Given the description of an element on the screen output the (x, y) to click on. 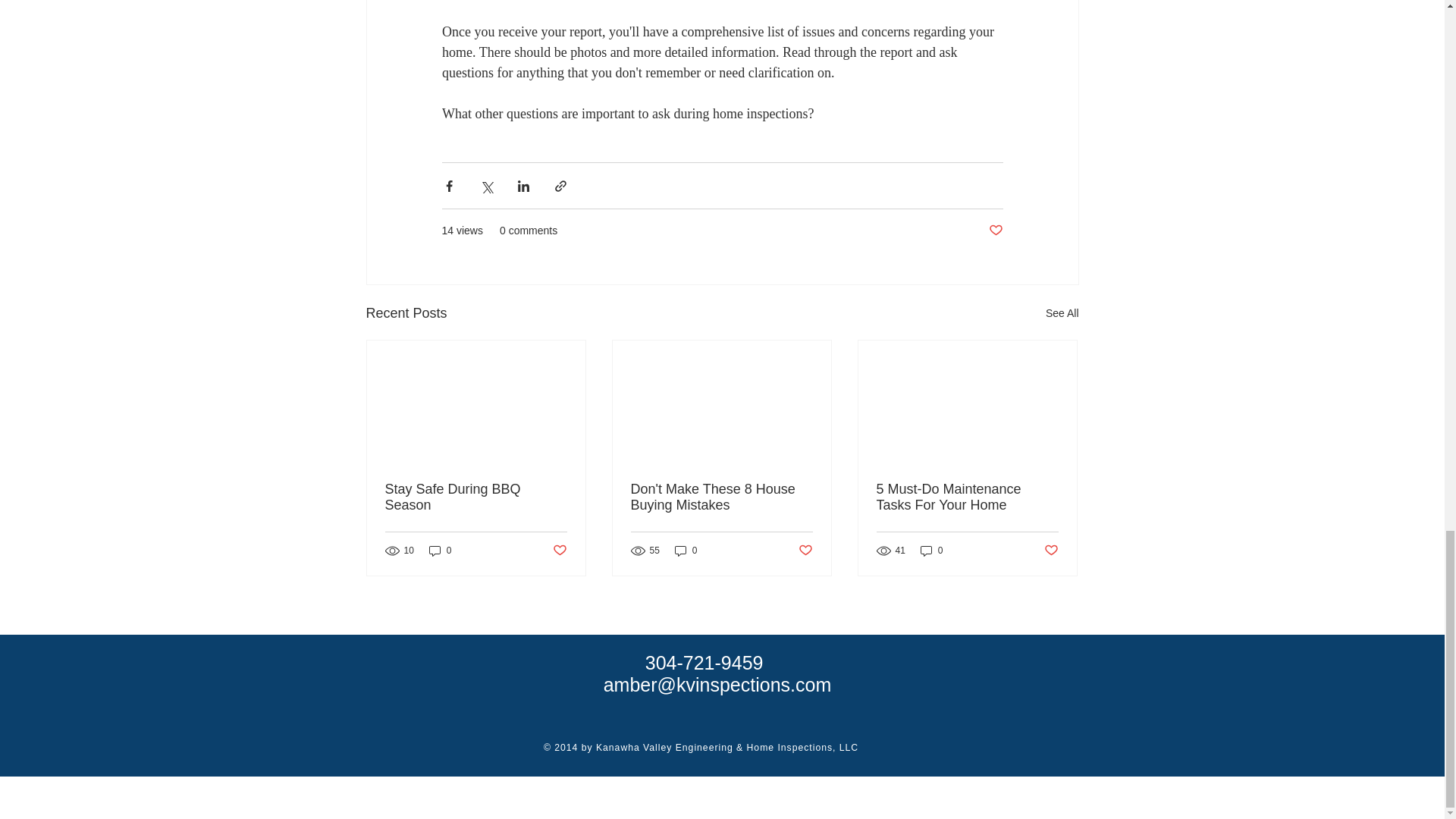
0 (440, 550)
0 (931, 550)
0 (685, 550)
See All (1061, 313)
Don't Make These 8 House Buying Mistakes (721, 497)
5 Must-Do Maintenance Tasks For Your Home (967, 497)
Post not marked as liked (804, 550)
Post not marked as liked (995, 230)
Post not marked as liked (558, 550)
Post not marked as liked (1050, 550)
Stay Safe During BBQ Season (476, 497)
